Given the description of an element on the screen output the (x, y) to click on. 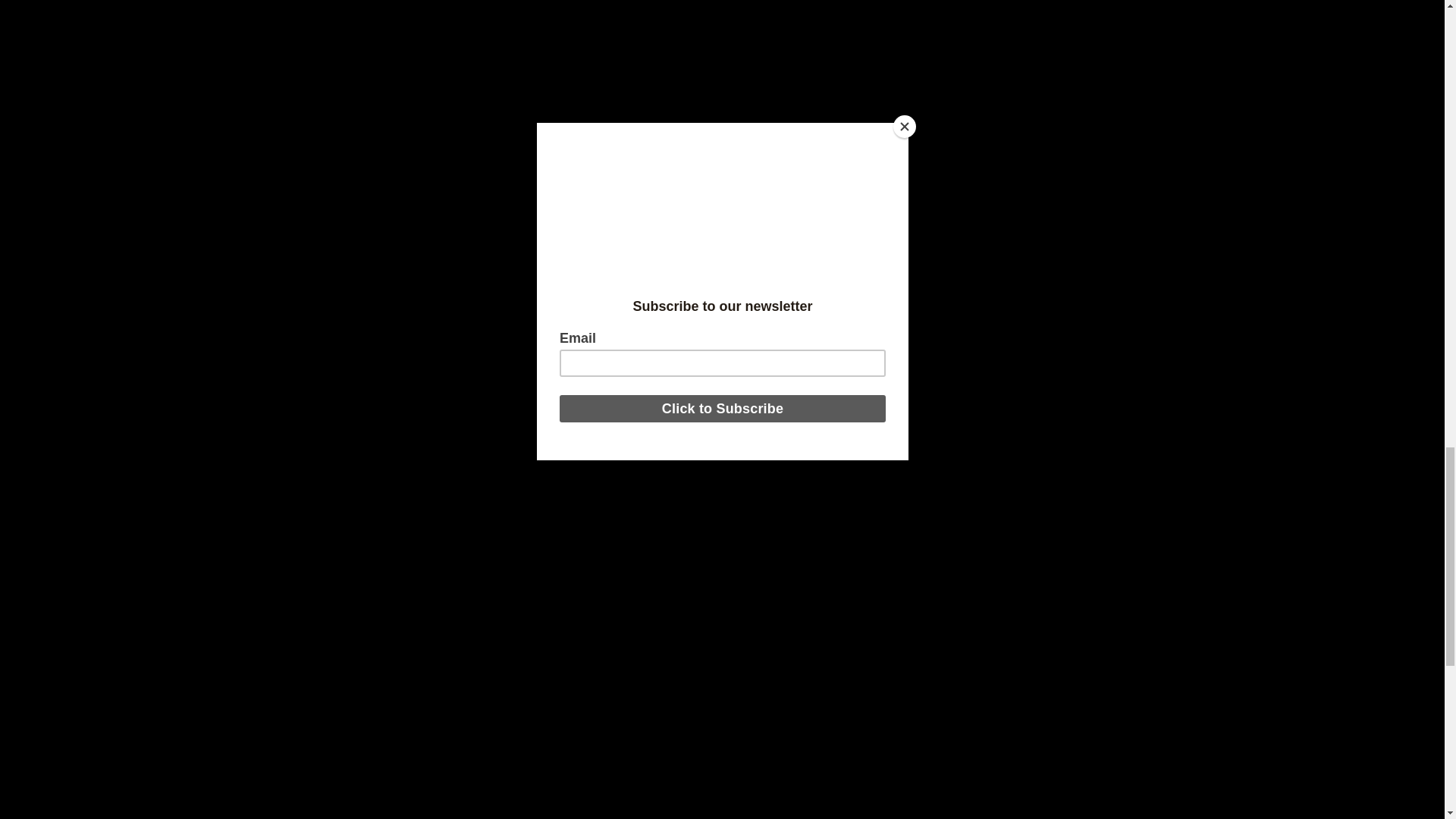
3rd party ad content (566, 169)
